Given the description of an element on the screen output the (x, y) to click on. 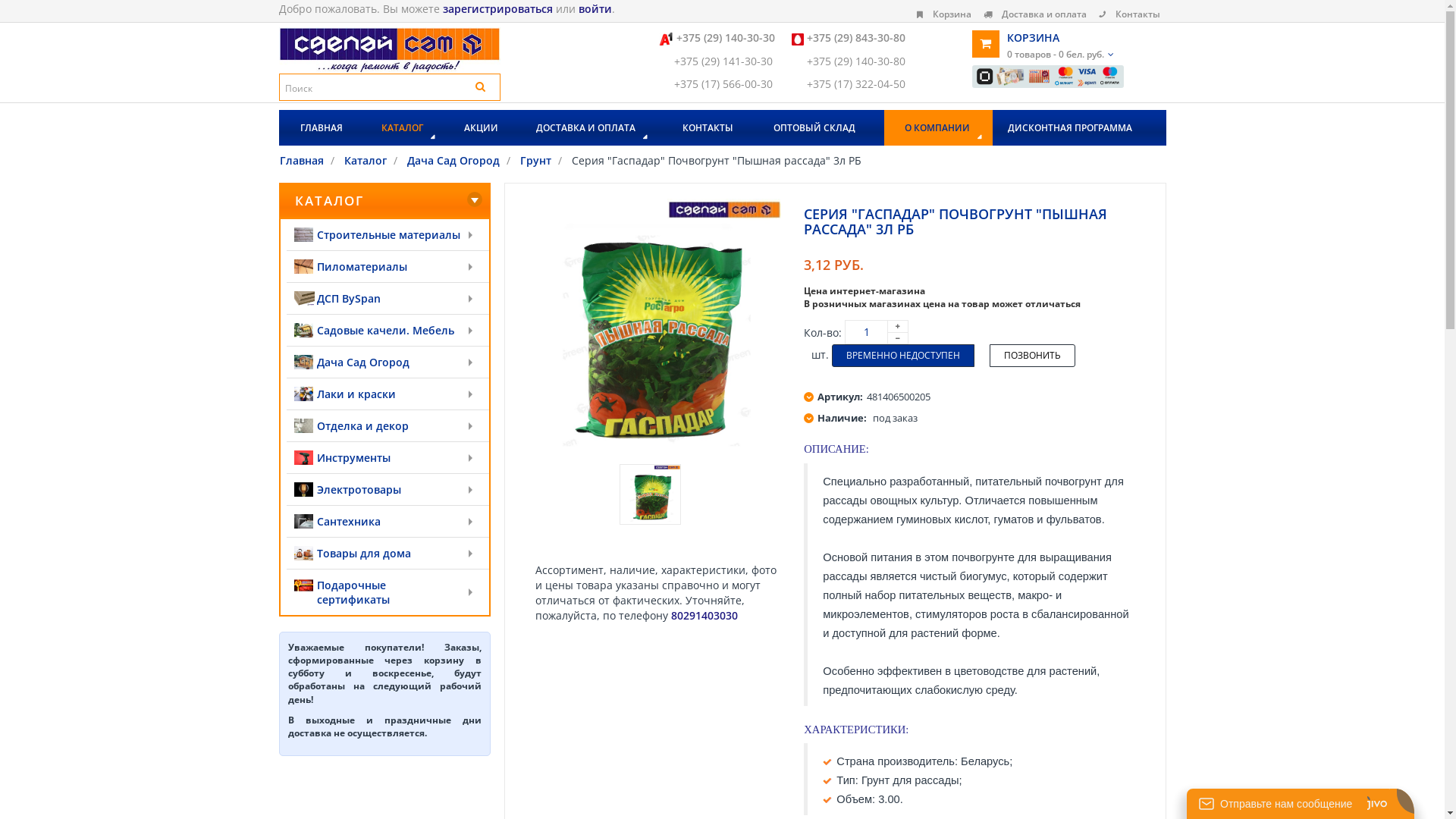
+375 (29) 140-30-30 Element type: text (725, 37)
80291403030 Element type: text (703, 615)
+375 (29) 843-30-80 Element type: text (855, 37)
